Given the description of an element on the screen output the (x, y) to click on. 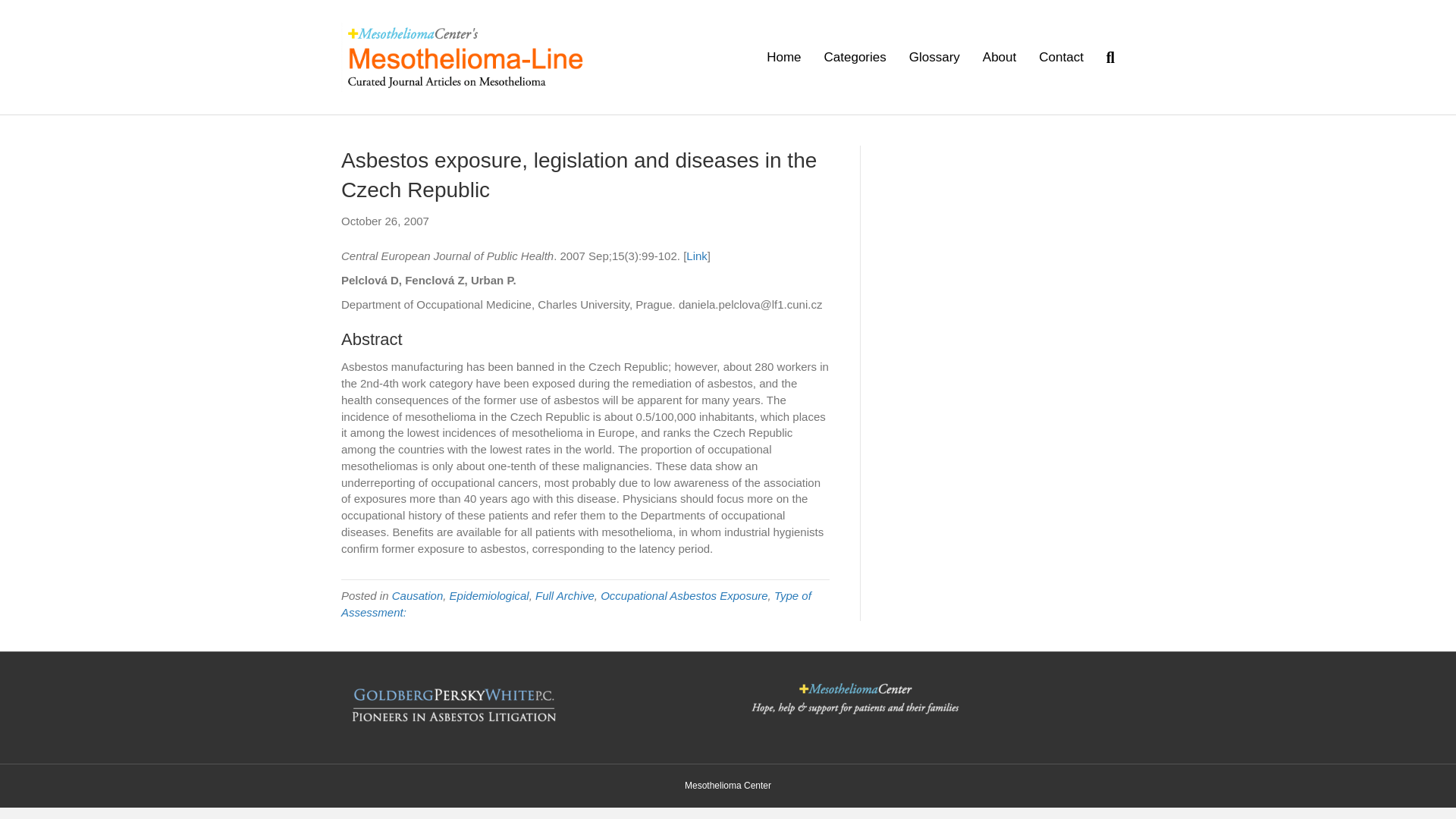
About (999, 56)
Causation (417, 594)
Epidemiological (489, 594)
Type of Assessment: (575, 603)
Glossary (934, 56)
Link (696, 255)
Categories (855, 56)
Contact (1060, 56)
Occupational Asbestos Exposure (683, 594)
Home (783, 56)
